Given the description of an element on the screen output the (x, y) to click on. 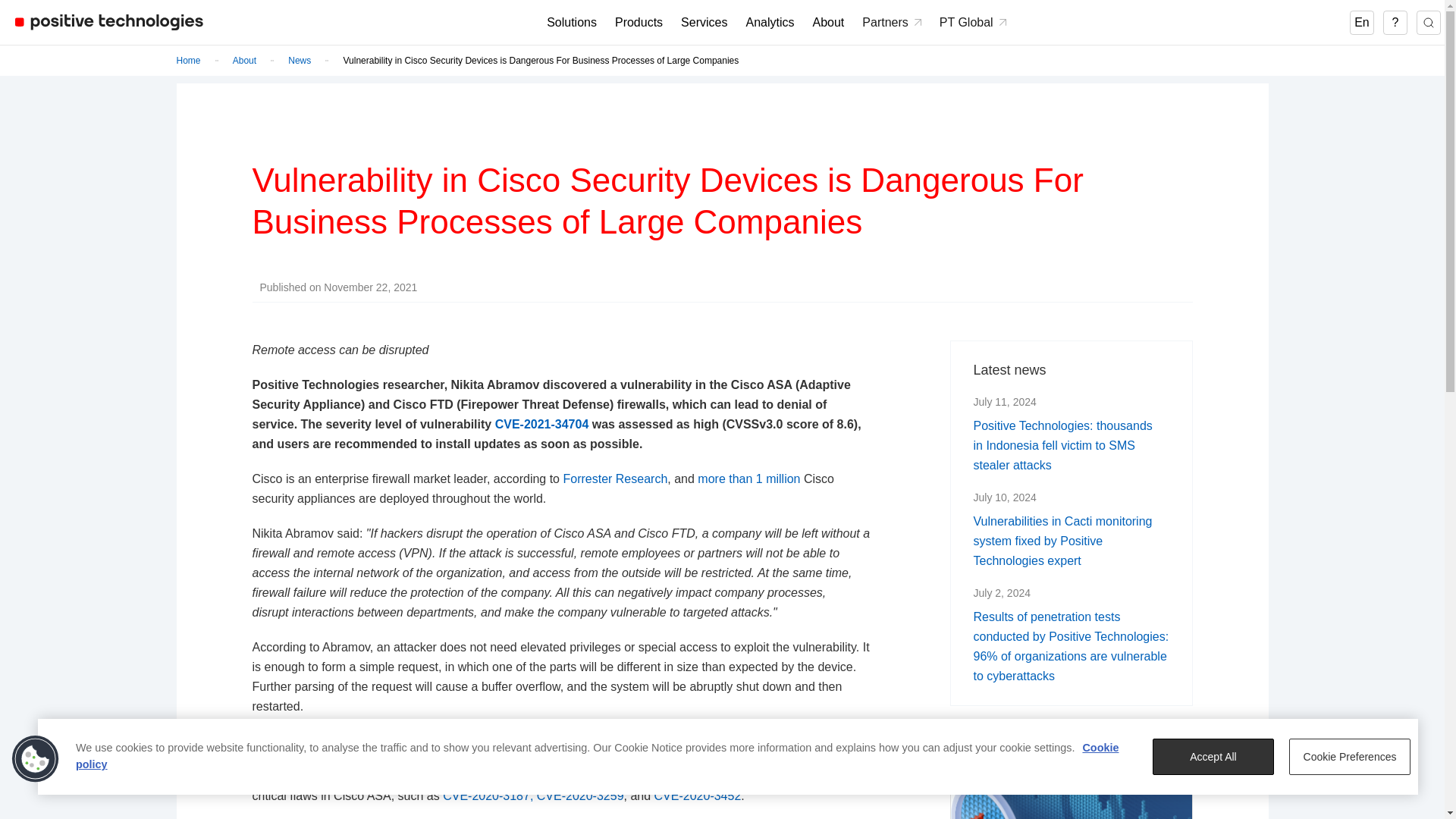
Forrester Research (614, 478)
 CVE-2020-3187, CVE-2020-3259 (531, 795)
CVE-2021-34704 (542, 423)
Partners (890, 22)
Cookies Button (36, 758)
About (244, 60)
News (299, 60)
advisory (756, 740)
CVE-2020-3452 (697, 795)
PT Global (972, 22)
more than 1 million (748, 478)
